Given the description of an element on the screen output the (x, y) to click on. 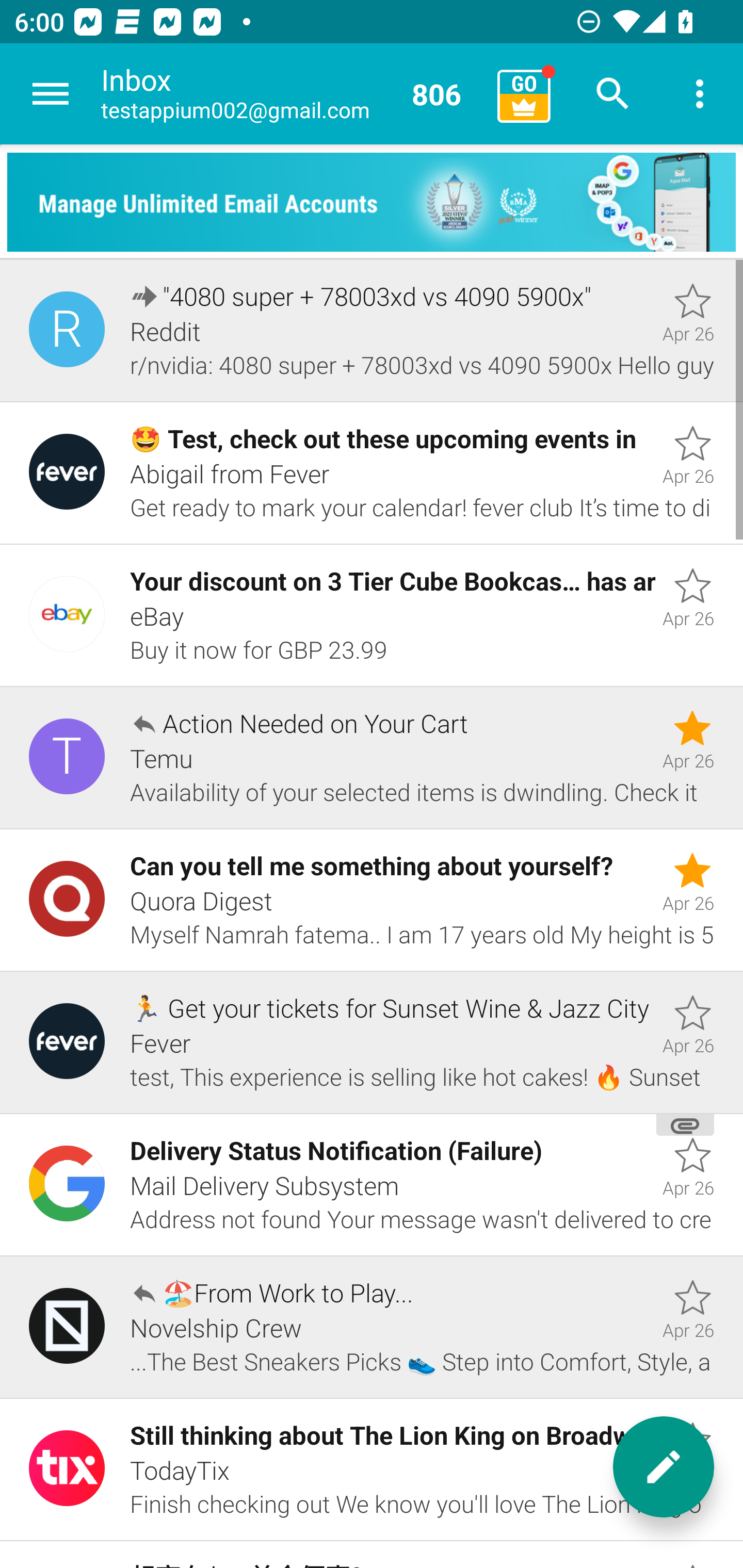
Navigate up (50, 93)
Inbox testappium002@gmail.com 806 (291, 93)
Search (612, 93)
More options (699, 93)
New message (663, 1466)
